Given the description of an element on the screen output the (x, y) to click on. 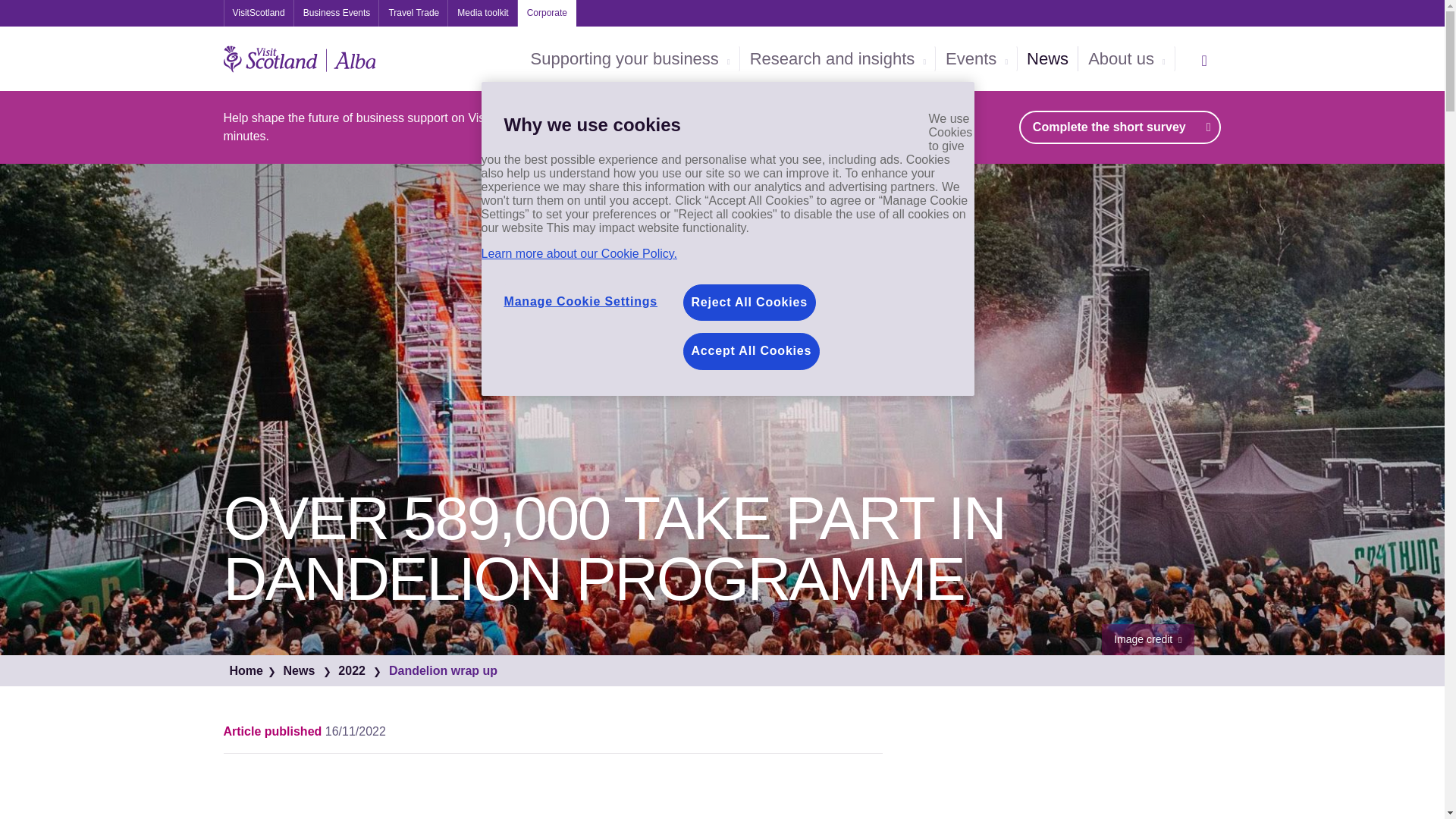
Media toolkit (482, 13)
Business Events (337, 13)
Corporate (547, 13)
Supporting your business (630, 58)
Travel Trade (413, 13)
VisitScotland (258, 13)
